Given the description of an element on the screen output the (x, y) to click on. 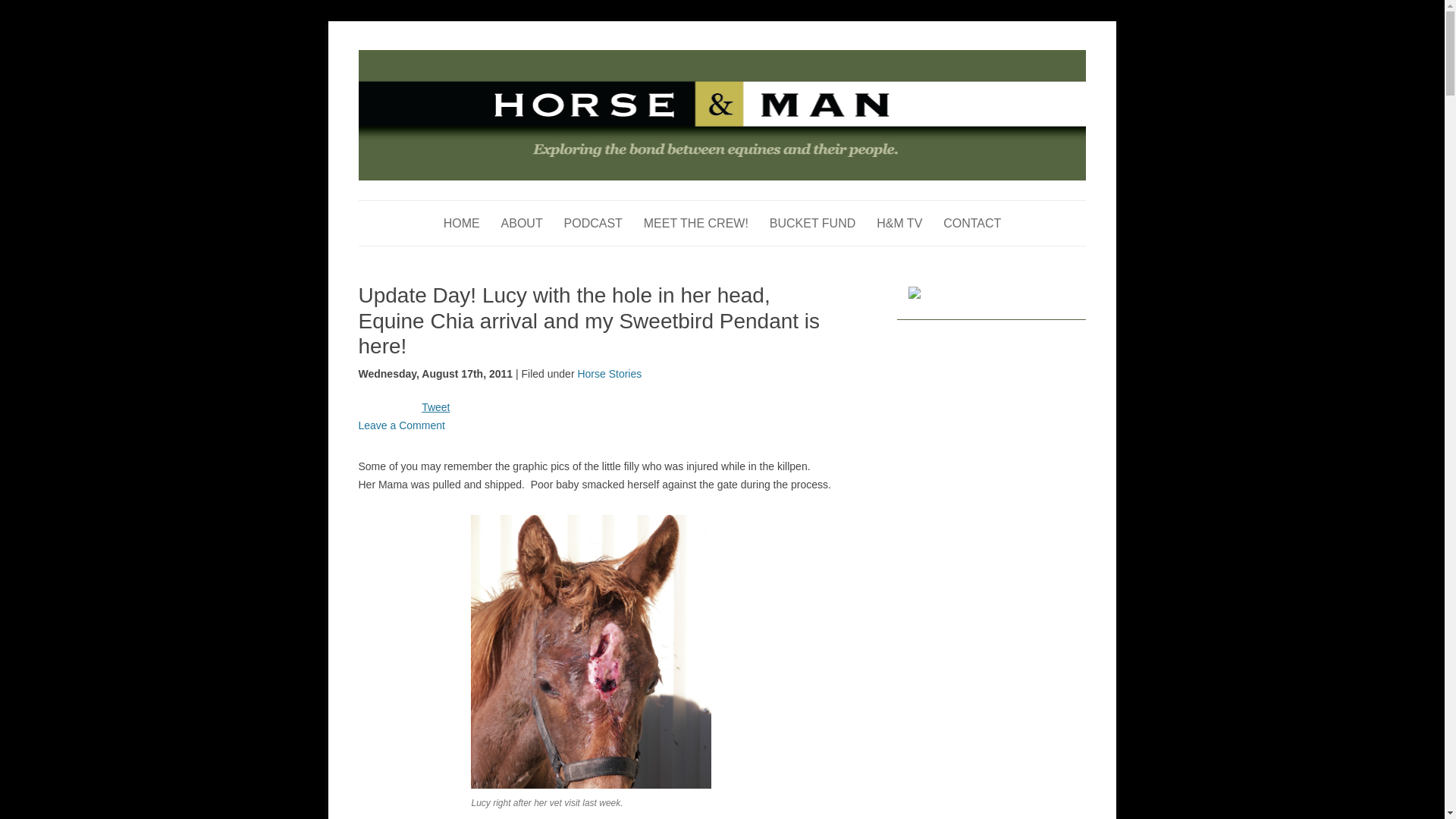
Skip to content (757, 204)
MEET THE CREW! (695, 222)
Meet the Horse and Man Crew (695, 222)
PODCAST (593, 222)
Tweet (435, 407)
ABOUT (521, 222)
BUCKET FUND (813, 222)
About Horse and Man (521, 222)
Leave a Comment (401, 425)
Contact Horse and Man (972, 222)
